Given the description of an element on the screen output the (x, y) to click on. 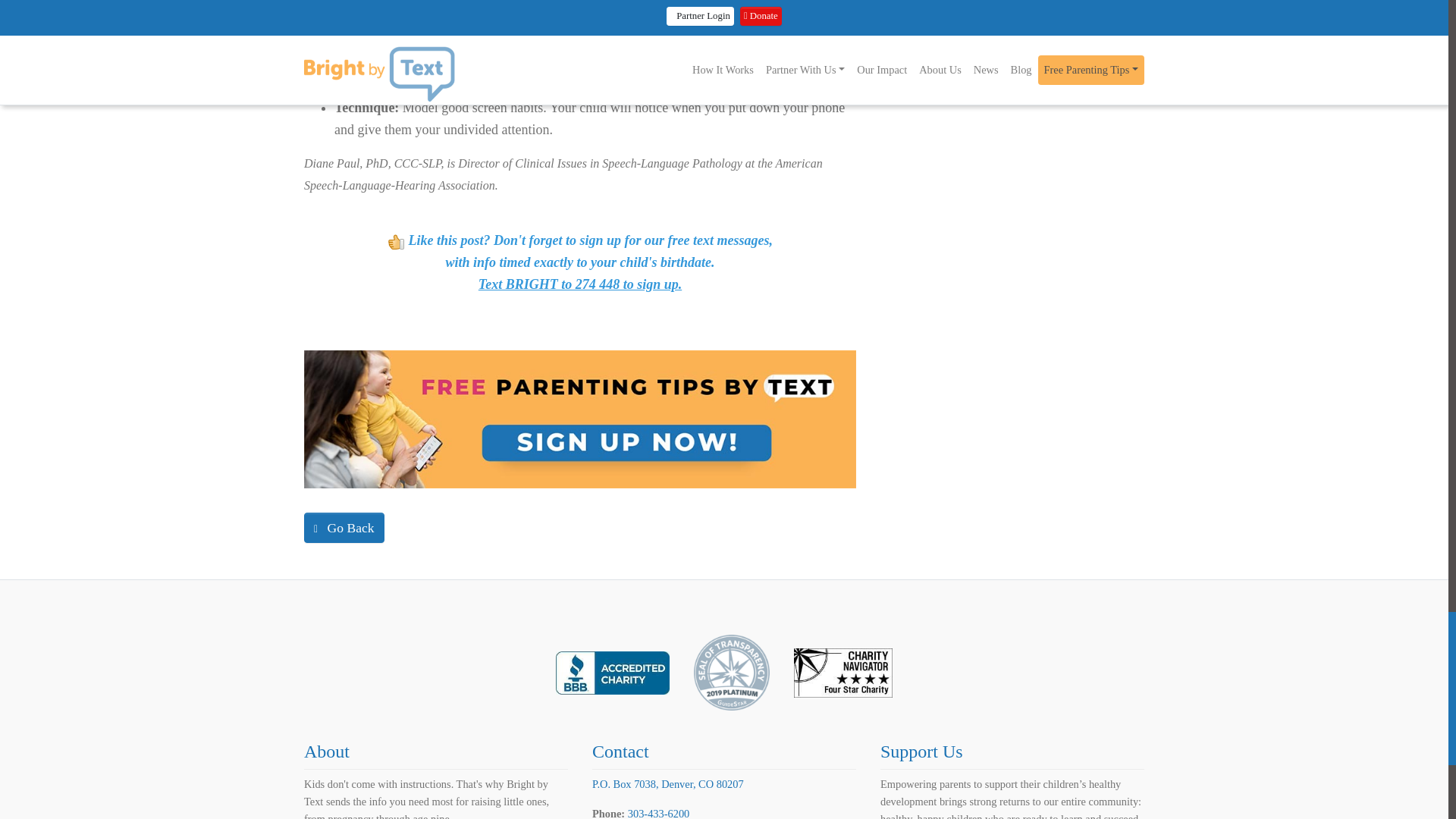
About (326, 751)
yes (395, 241)
Contact (620, 751)
Go Back (344, 527)
P.O. Box 7038, Denver, CO 80207 (668, 784)
303-433-6200 (658, 813)
